Given the description of an element on the screen output the (x, y) to click on. 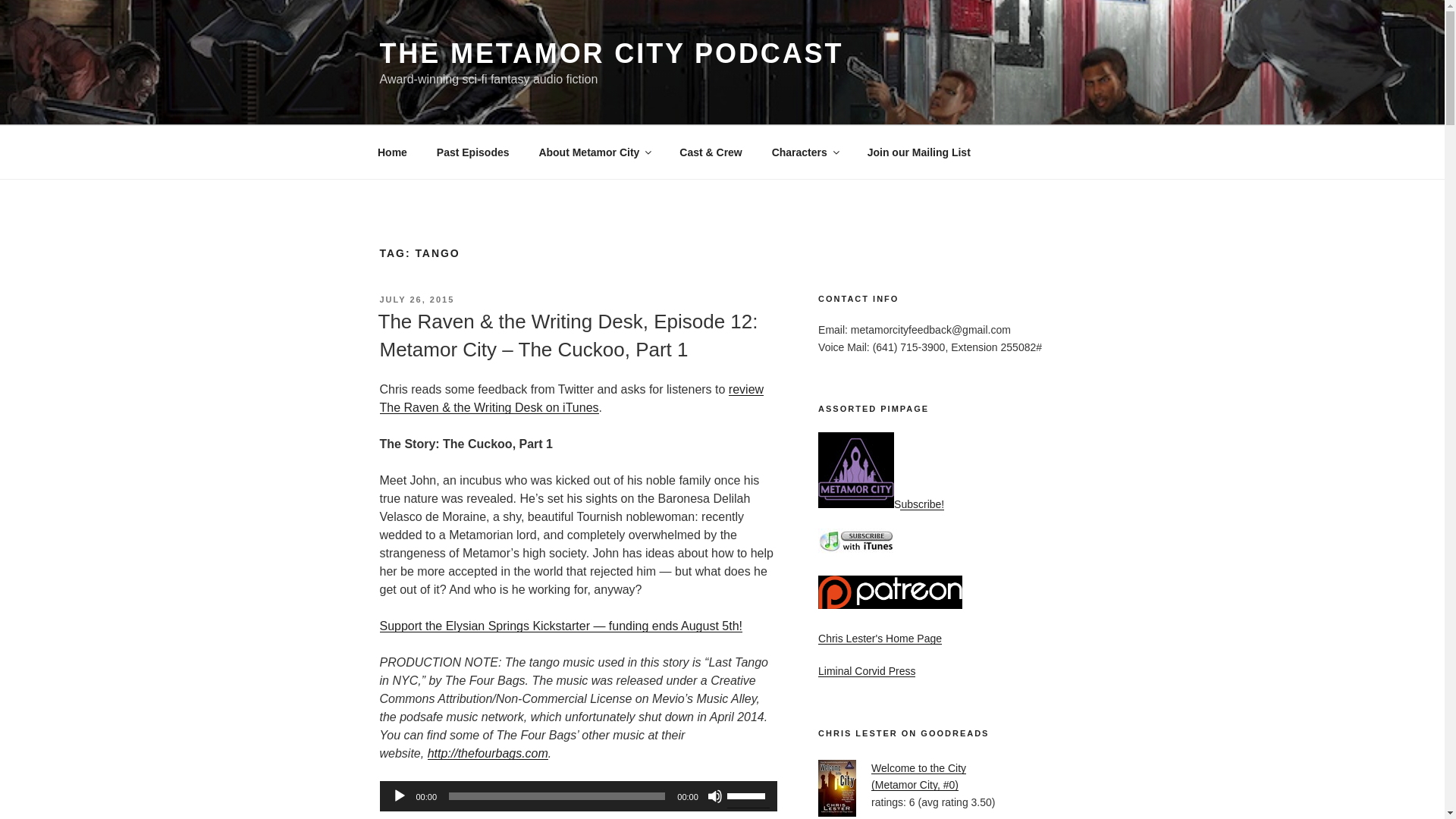
Subscribe! (880, 503)
Past Episodes (472, 151)
Mute (714, 795)
My Patreon page (890, 592)
Characters (804, 151)
THE METAMOR CITY PODCAST (610, 52)
JULY 26, 2015 (416, 298)
Play (398, 795)
Home (392, 151)
Join our Mailing List (918, 151)
Chris Lester's Home Page (880, 638)
About Metamor City (594, 151)
